Given the description of an element on the screen output the (x, y) to click on. 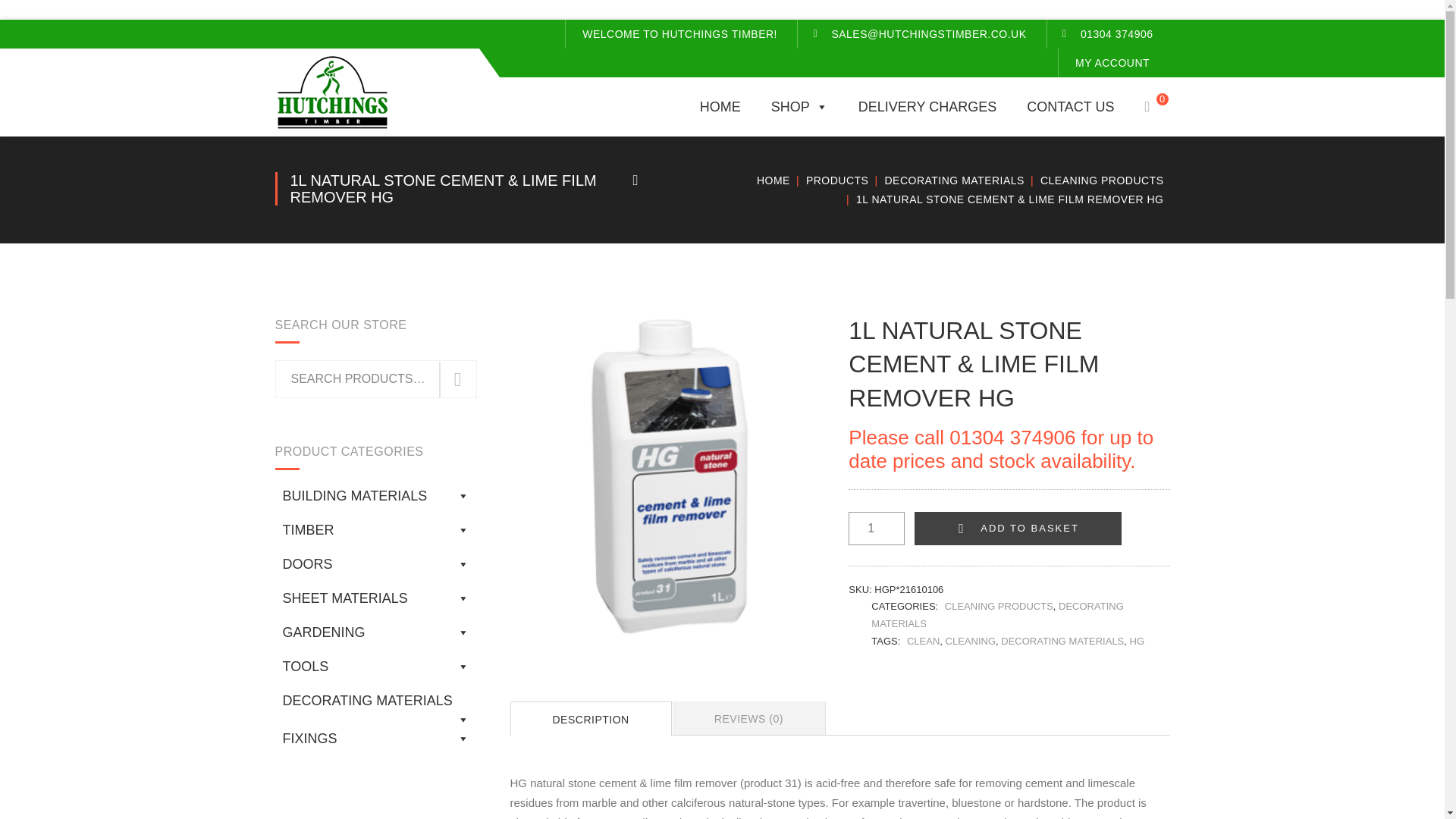
Hutchings Timber (331, 91)
HOME (720, 106)
MY ACCOUNT (1112, 62)
1 (876, 528)
Qty (876, 528)
SHOP (798, 106)
